Given the description of an element on the screen output the (x, y) to click on. 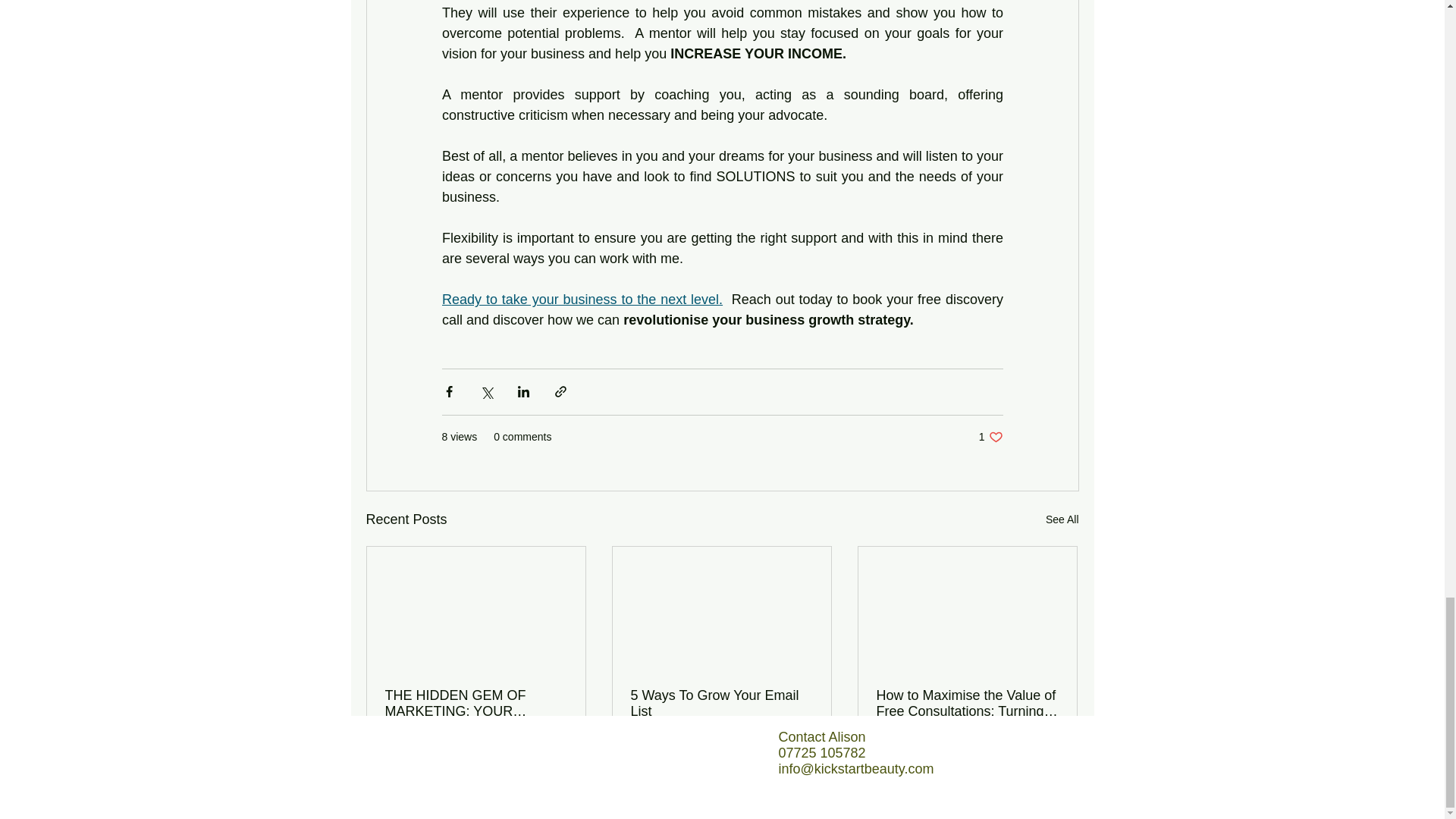
0 (681, 756)
THE HIDDEN GEM OF MARKETING: YOUR SUBSCRIBER MAIL LIST (555, 756)
0 (800, 756)
0 (476, 703)
5 Ways To Grow Your Email List (1046, 756)
Ready to take your business to the next level. (435, 756)
See All (926, 756)
